Given the description of an element on the screen output the (x, y) to click on. 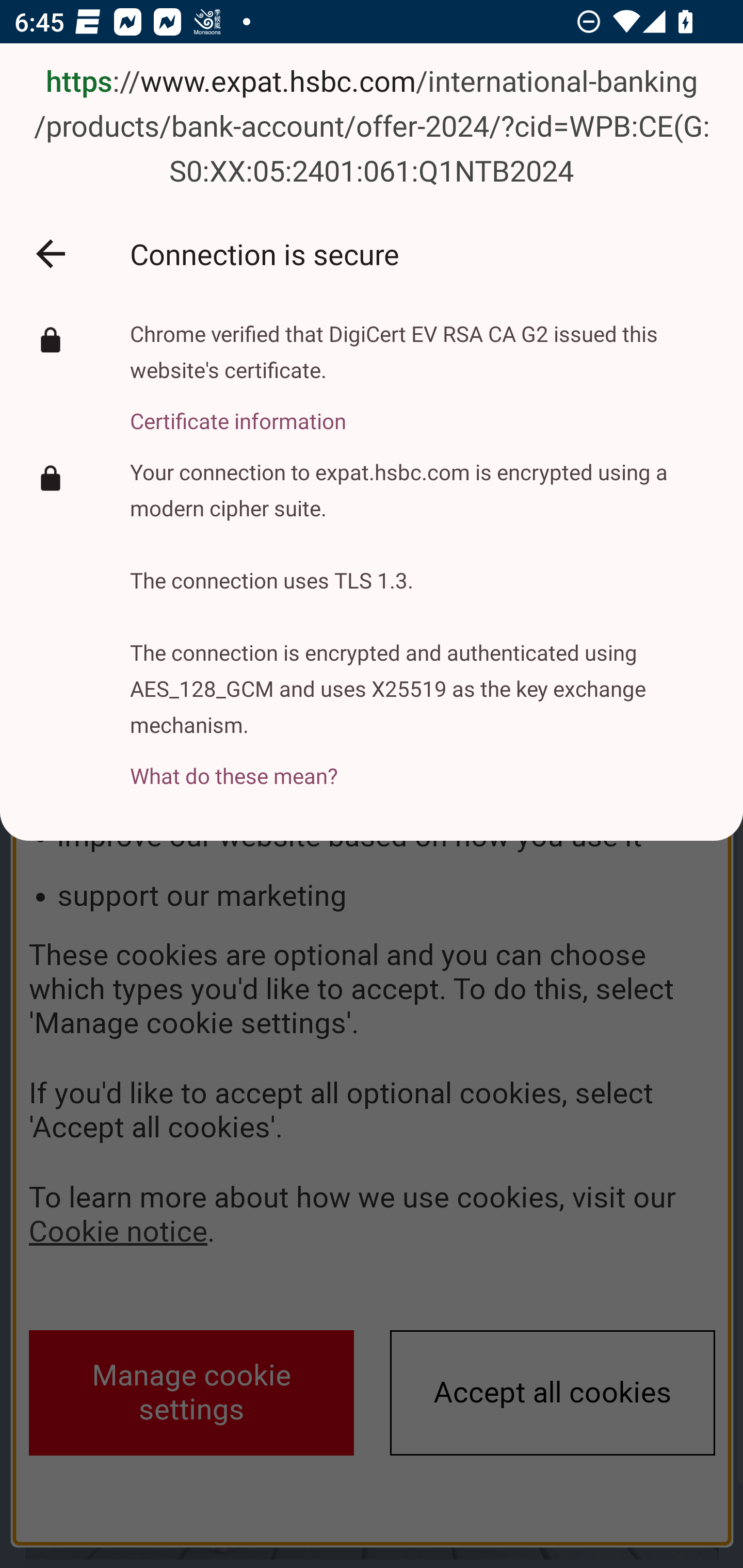
Back (50, 253)
Certificate information (422, 409)
What do these mean? (422, 764)
